Given the description of an element on the screen output the (x, y) to click on. 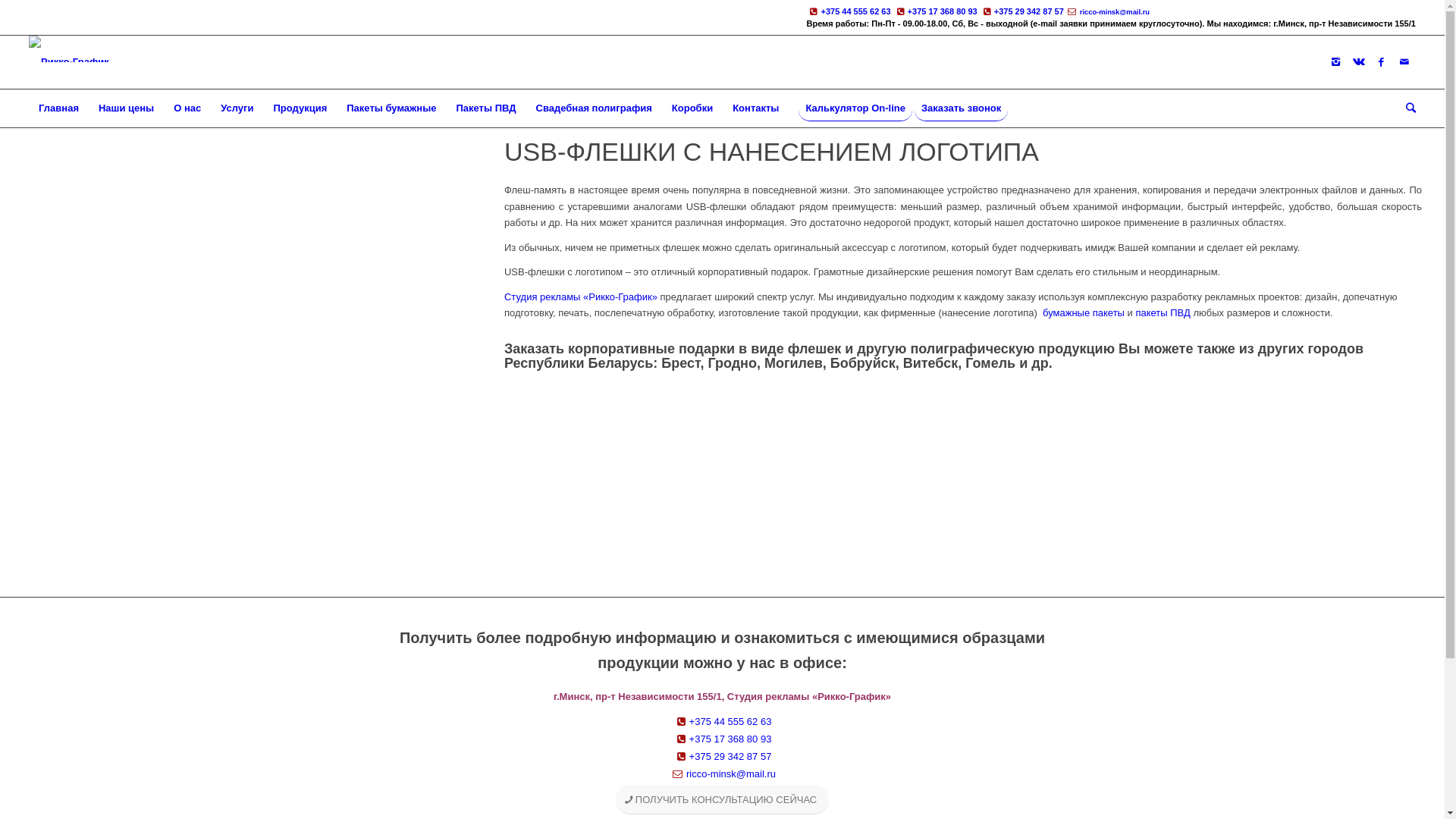
+375 44 555 62 63 Element type: text (848, 10)
Facebook Element type: hover (1381, 61)
+375 17 368 80 93 Element type: text (935, 10)
Instagram Element type: hover (1335, 61)
+375 17 368 80 93 Element type: text (722, 738)
+375 29 342 87 57 Element type: text (722, 756)
+375 29 342 87 57 Element type: text (1021, 10)
Vk Element type: hover (1358, 61)
ricco-minsk@mail.ru Element type: text (1106, 10)
Mail Element type: hover (1404, 61)
ricco-minsk@mail.ru Element type: text (721, 773)
+375 44 555 62 63 Element type: text (722, 721)
